Given the description of an element on the screen output the (x, y) to click on. 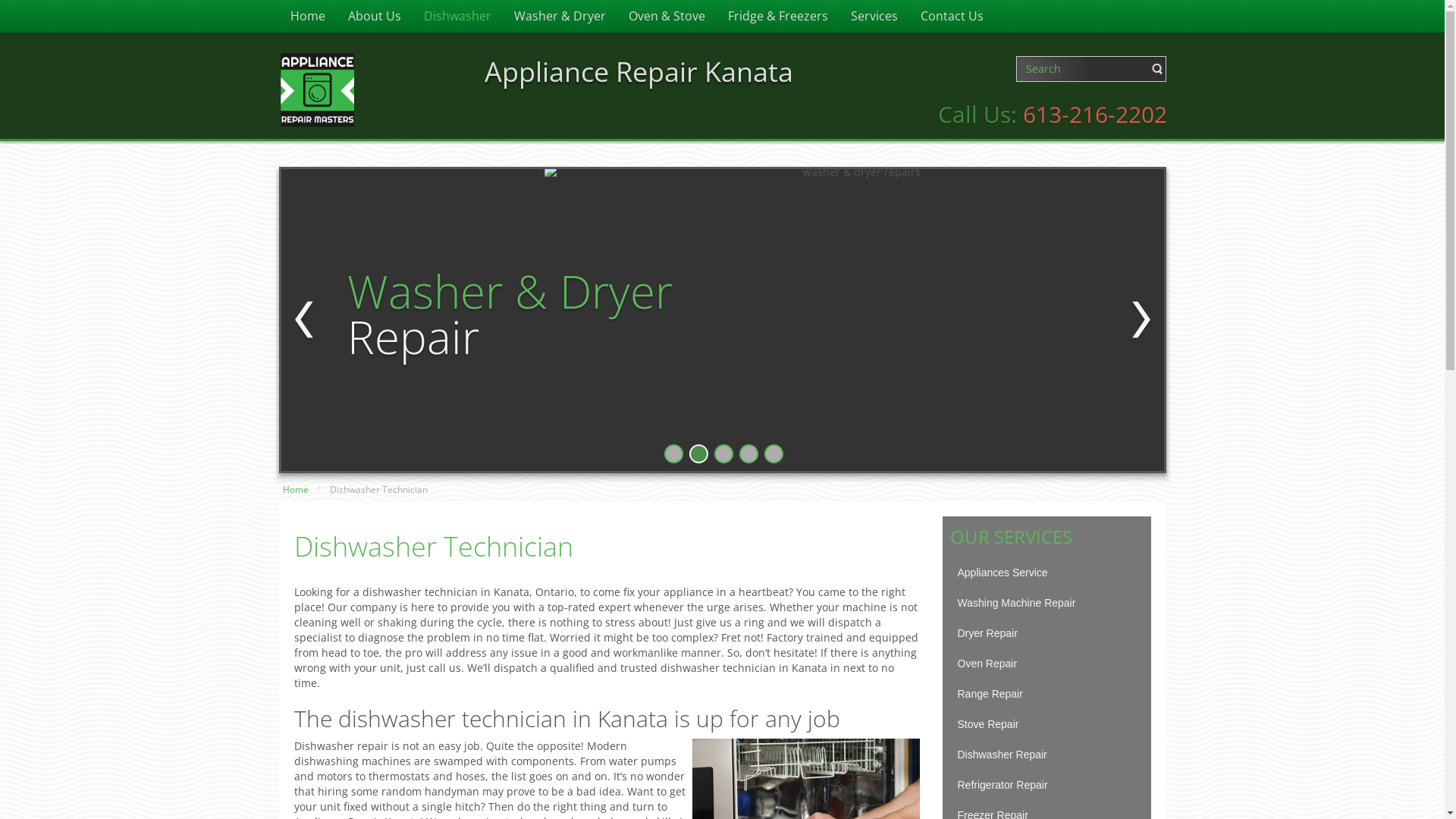
Services Element type: text (873, 16)
Oven & Stove Element type: text (666, 16)
Fridge & Freezers Element type: text (776, 16)
Dishwasher Element type: text (457, 16)
Appliances Service Element type: text (1045, 572)
Dryer Repair Element type: text (1045, 633)
Range Repair Element type: text (1045, 693)
Dishwasher Repair Element type: text (1045, 754)
Washing Machine Repair Element type: text (1045, 602)
Refrigerator Repair Element type: text (1045, 784)
Home Element type: text (307, 16)
Contact Us Element type: text (951, 16)
About Us Element type: text (374, 16)
Washer & Dryer Element type: text (559, 16)
Stove Repair Element type: text (1045, 724)
Home Element type: text (294, 489)
Oven Repair Element type: text (1045, 663)
